Given the description of an element on the screen output the (x, y) to click on. 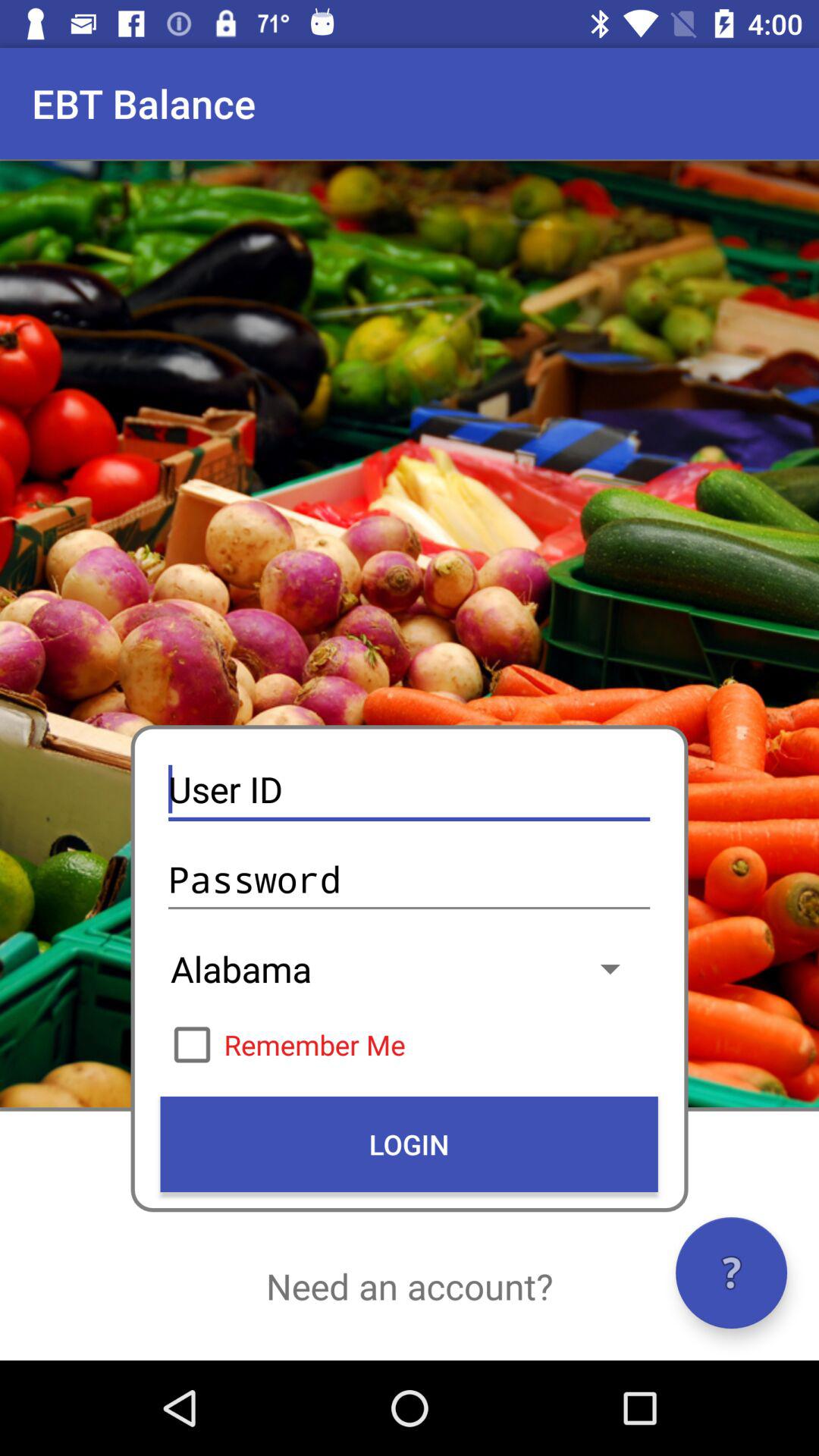
click the item below the remember me item (409, 1144)
